Given the description of an element on the screen output the (x, y) to click on. 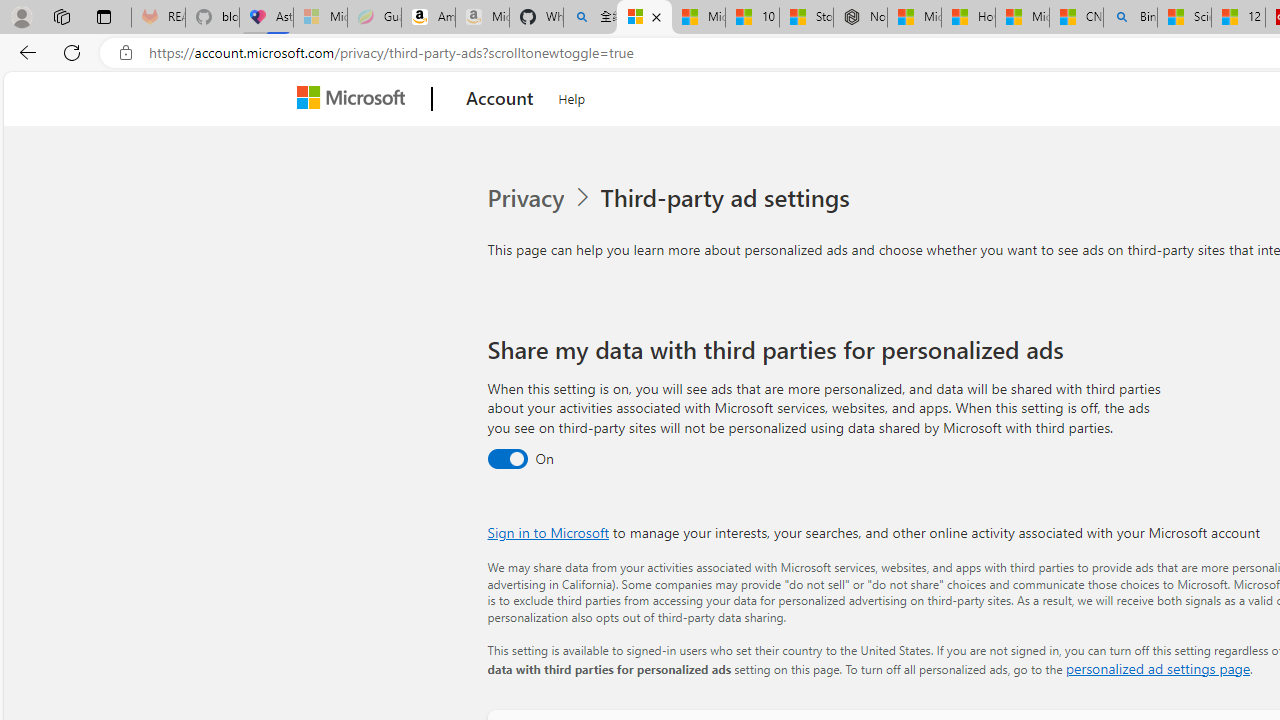
Privacy (541, 197)
12 Popular Science Lies that Must be Corrected (1238, 17)
Sign in to Microsoft (548, 532)
Third party data sharing toggle (506, 459)
Help (572, 96)
Microsoft account | Privacy (644, 17)
Microsoft-Report a Concern to Bing - Sleeping (320, 17)
CNN - MSN (1076, 17)
Microsoft (354, 99)
